Given the description of an element on the screen output the (x, y) to click on. 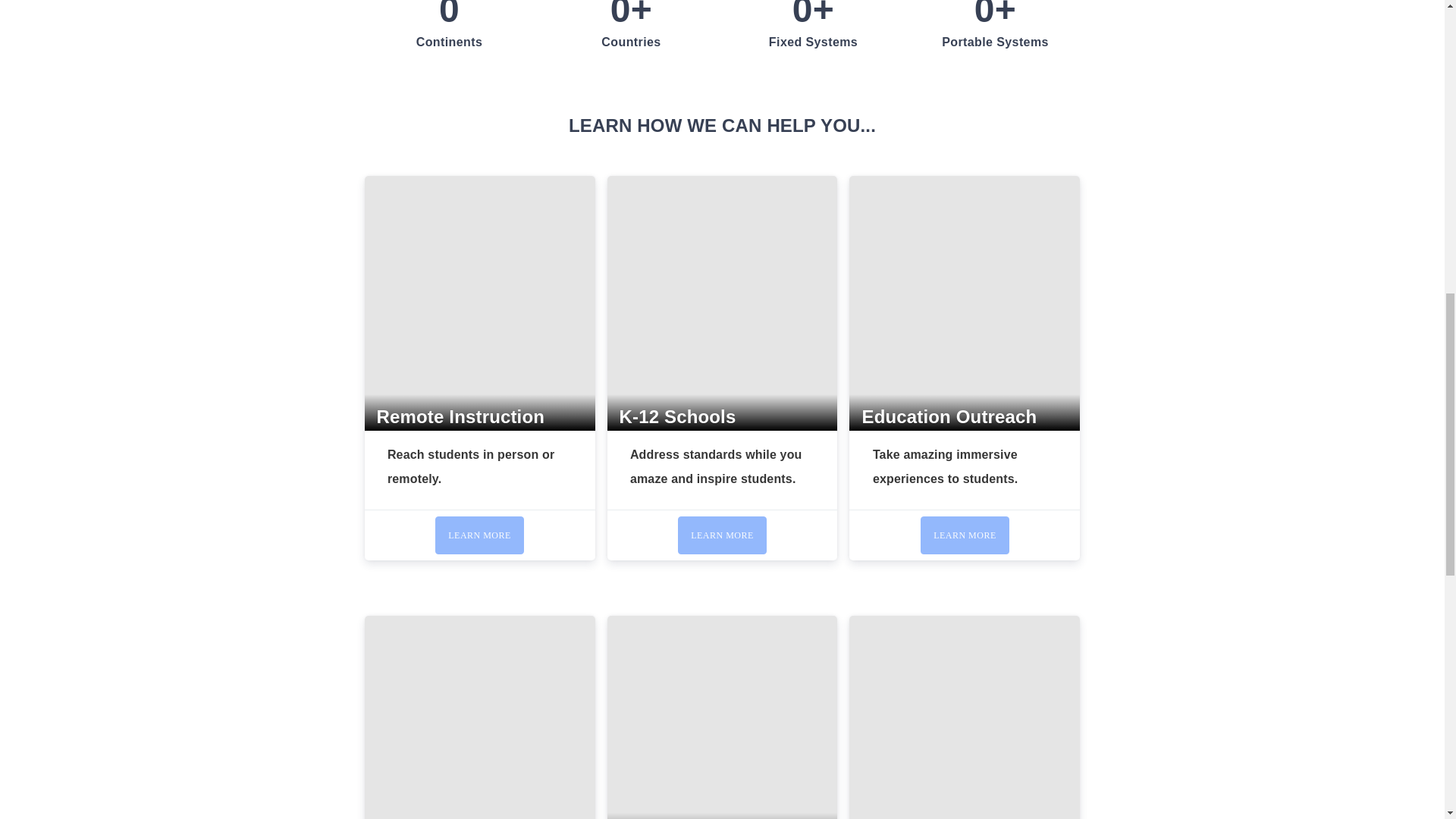
LEARN MORE (478, 535)
LEARN MORE (721, 535)
LEARN MORE (964, 535)
